Given the description of an element on the screen output the (x, y) to click on. 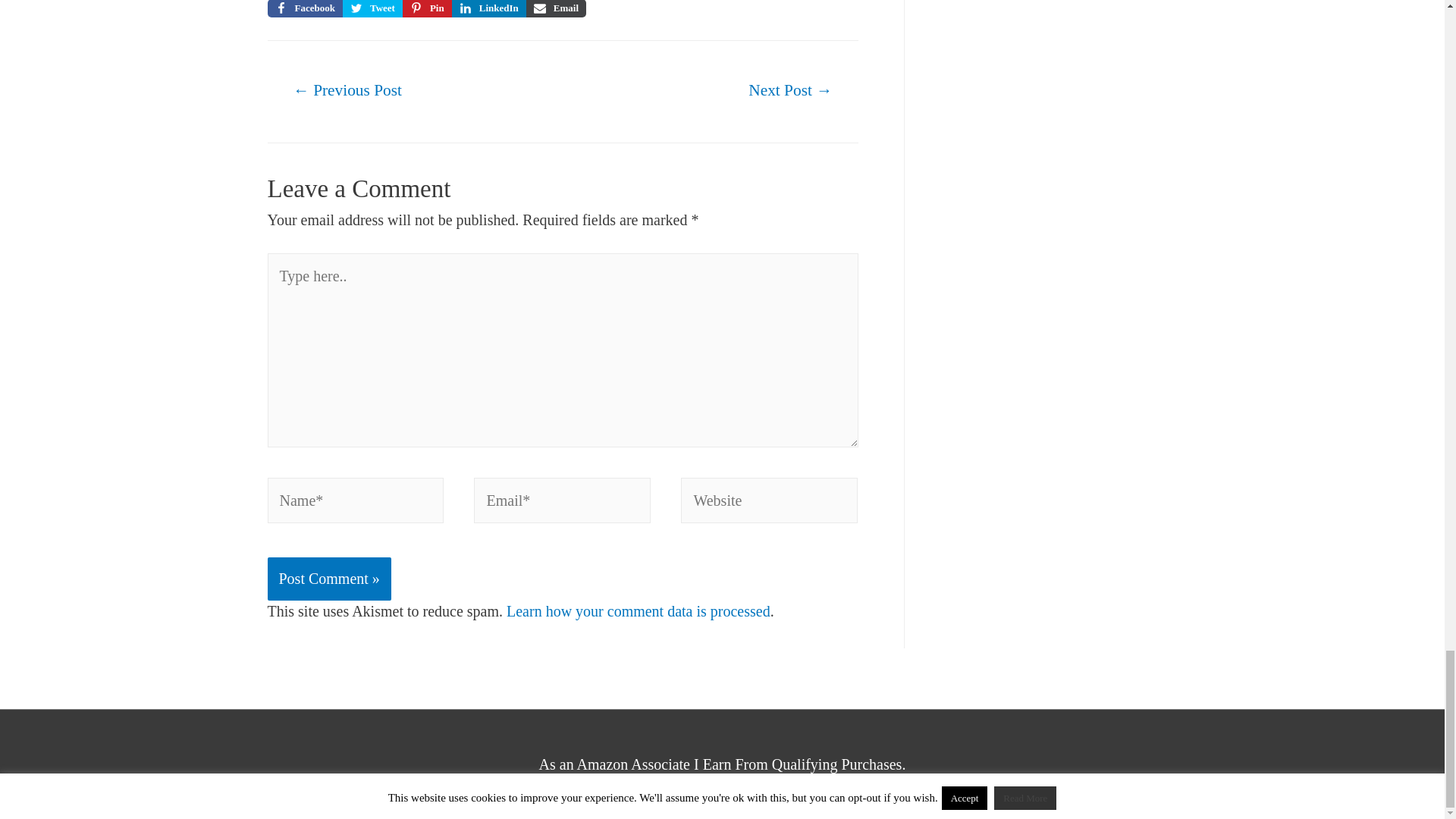
Share on LinkedIn (488, 8)
Share via Email (555, 8)
Share on Facebook (304, 8)
Email (555, 8)
Share on Twitter (372, 8)
Share on Pinterest (427, 8)
